Given the description of an element on the screen output the (x, y) to click on. 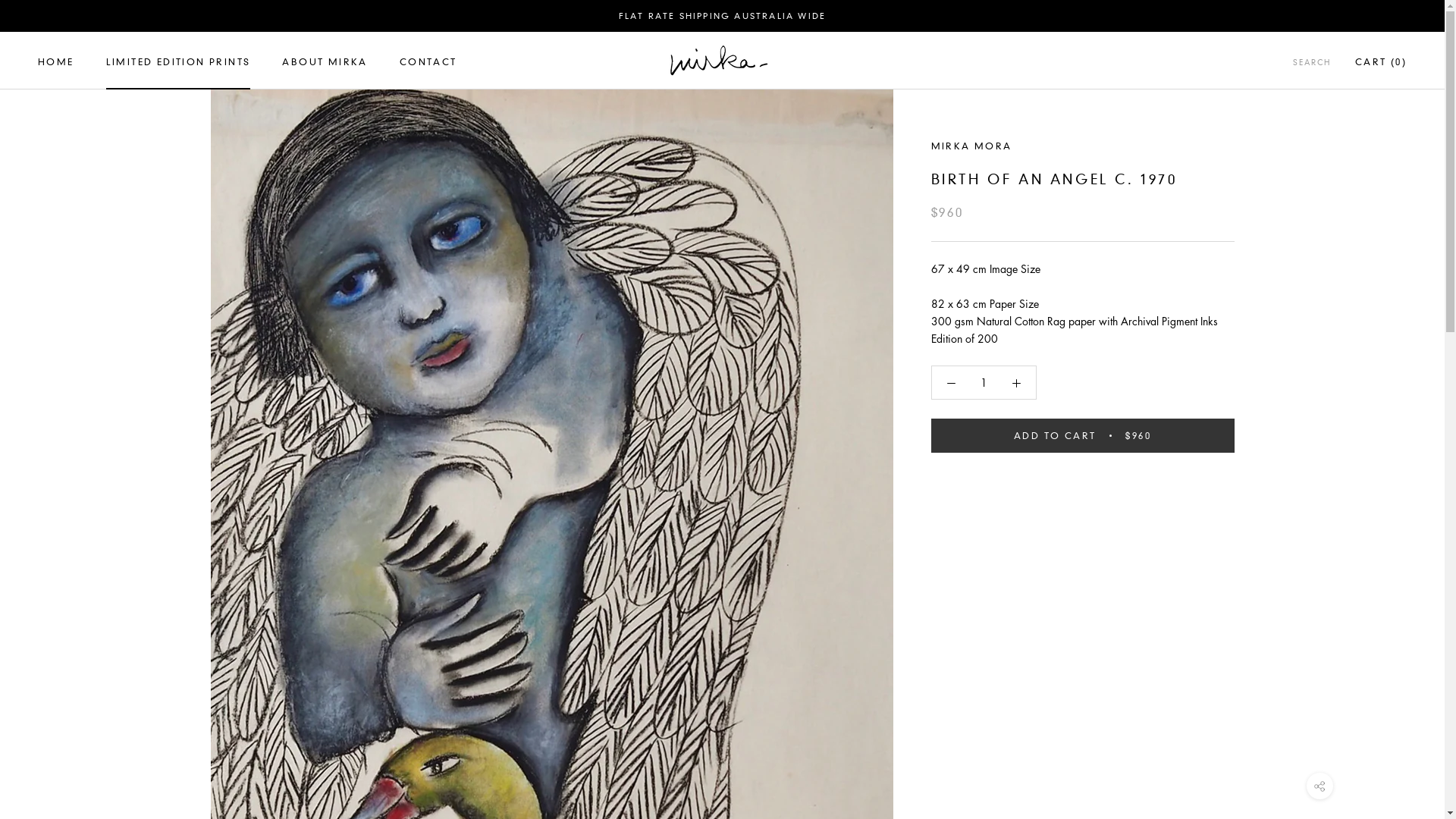
CONTACT
CONTACT Element type: text (428, 61)
HOME
HOME Element type: text (55, 61)
ADD TO CART
$960 Element type: text (1082, 435)
SEARCH Element type: text (1311, 62)
CART (0) Element type: text (1380, 61)
ABOUT MIRKA
ABOUT MIRKA Element type: text (324, 61)
LIMITED EDITION PRINTS
LIMITED EDITION PRINTS Element type: text (178, 61)
